Given the description of an element on the screen output the (x, y) to click on. 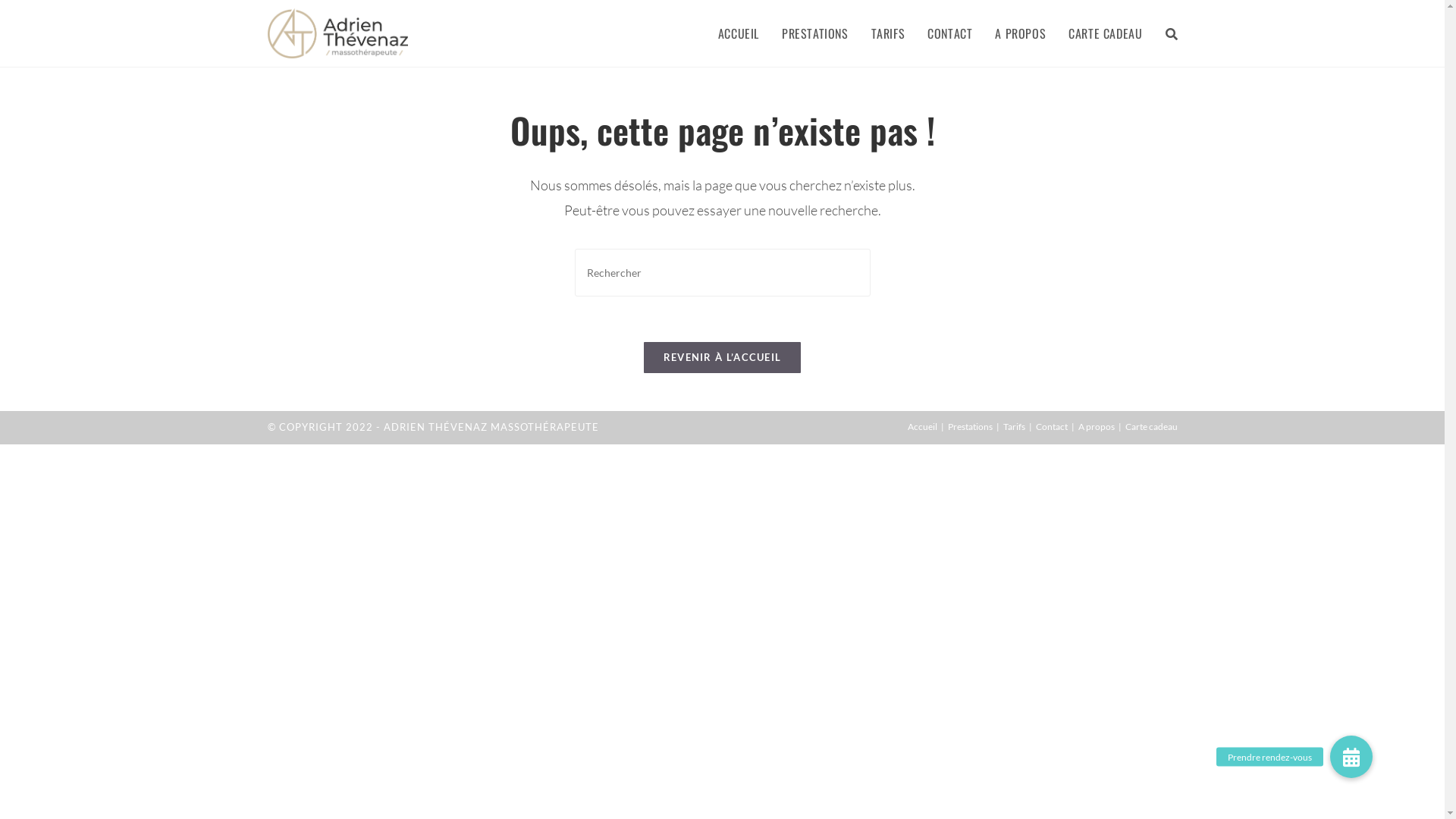
Carte cadeau Element type: text (1151, 426)
TARIFS Element type: text (887, 33)
Accueil Element type: text (921, 426)
A propos Element type: text (1096, 426)
PRESTATIONS Element type: text (814, 33)
ACCUEIL Element type: text (738, 33)
Tarifs Element type: text (1013, 426)
Prendre rendez-vous Element type: text (1351, 756)
CARTE CADEAU Element type: text (1105, 33)
CONTACT Element type: text (949, 33)
Contact Element type: text (1051, 426)
A PROPOS Element type: text (1020, 33)
Prestations Element type: text (969, 426)
TOGGLE WEBSITE SEARCH Element type: text (1171, 33)
